Given the description of an element on the screen output the (x, y) to click on. 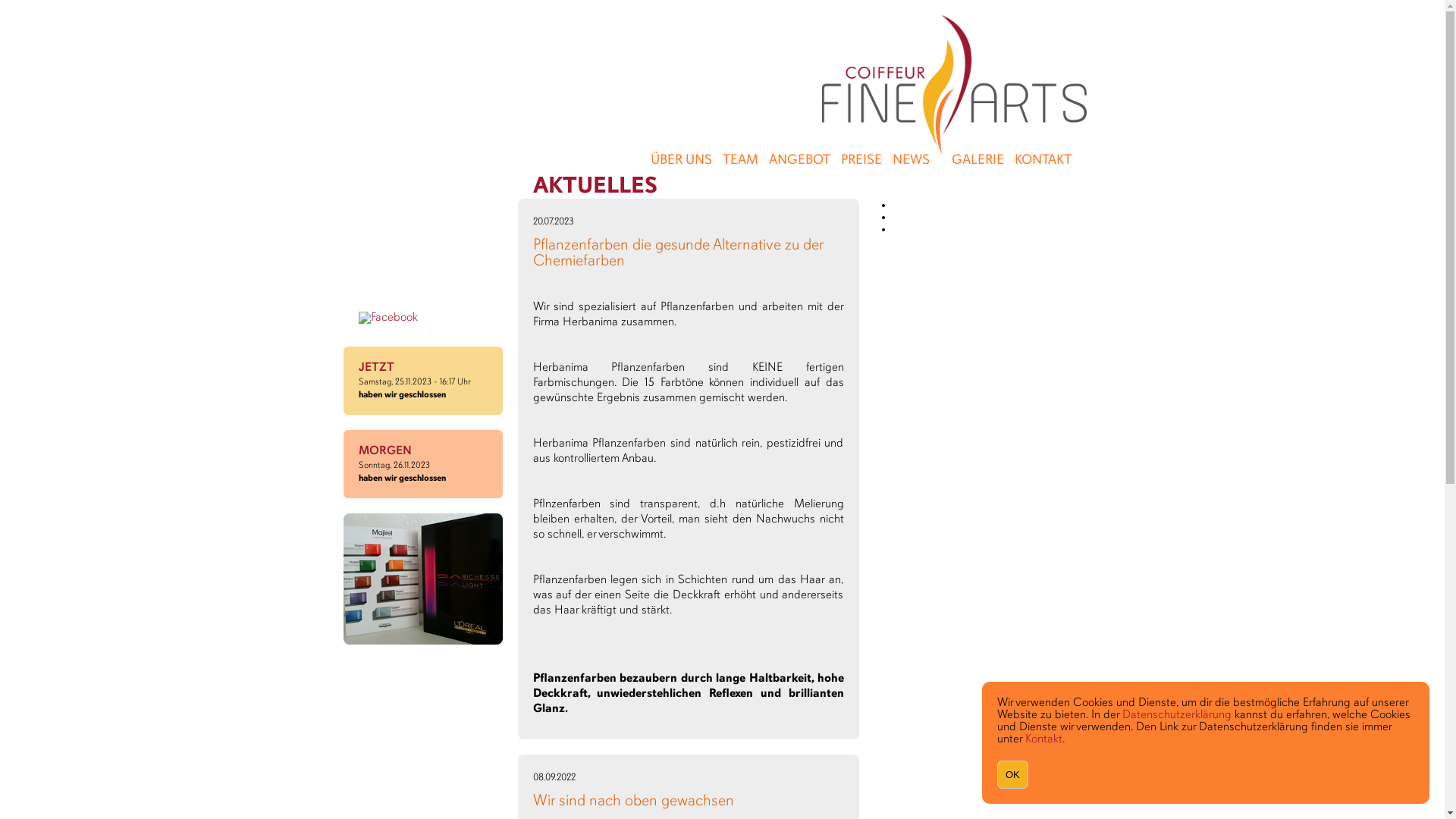
PREISE Element type: text (860, 160)
NEWS Element type: text (909, 160)
GALERIE Element type: text (976, 160)
TEAM Element type: text (739, 160)
KONTAKT Element type: text (1042, 160)
ANGEBOT Element type: text (799, 160)
OK Element type: text (1012, 774)
Kontakt Element type: text (1043, 739)
